Given the description of an element on the screen output the (x, y) to click on. 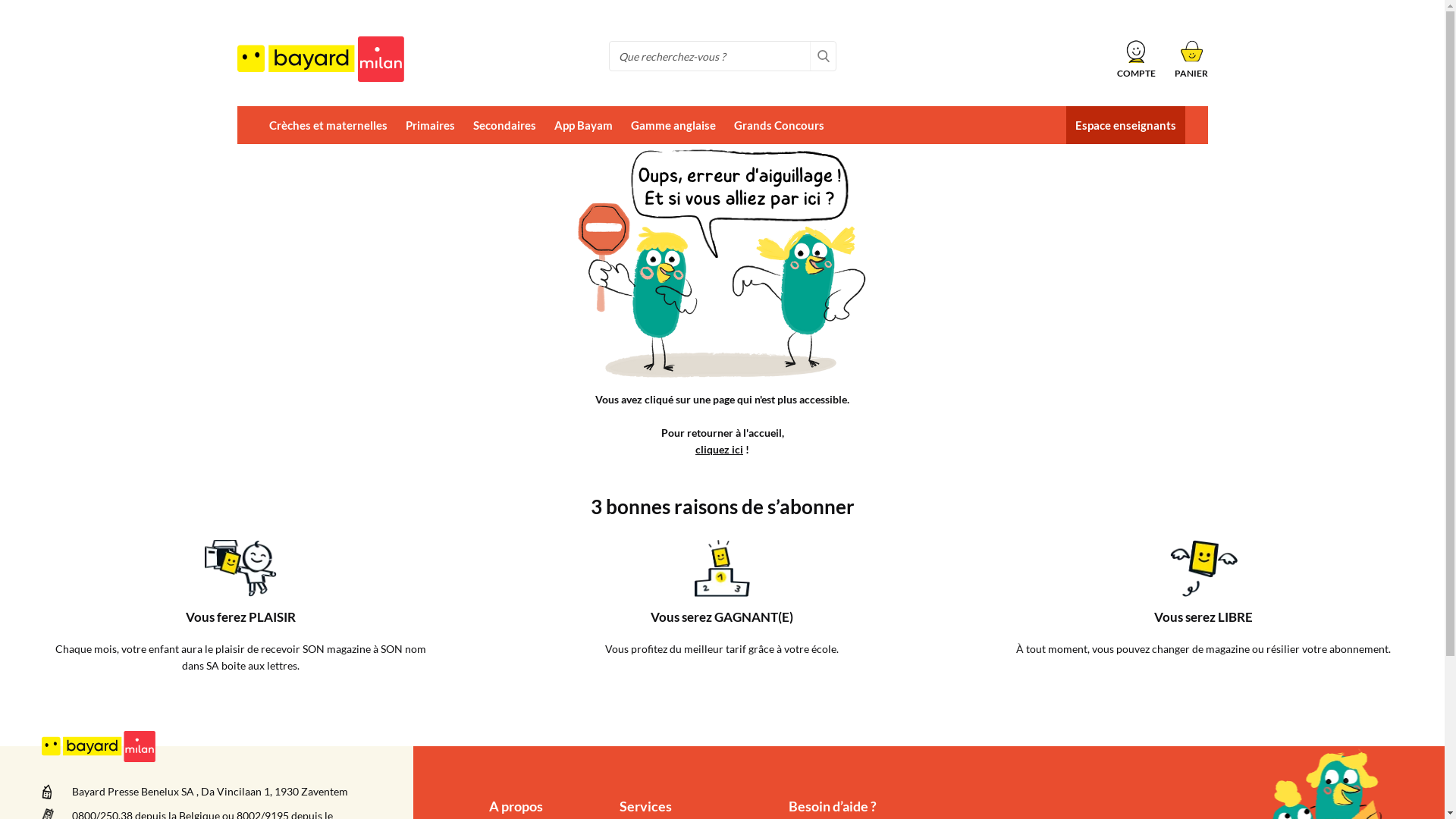
Gamme anglaise Element type: text (672, 125)
cliquez ici ! Element type: text (722, 448)
Grands Concours Element type: text (778, 125)
PANIER Element type: text (1190, 59)
Rechercher Element type: text (822, 55)
Primaires Element type: text (429, 125)
App Bayam Element type: text (582, 125)
Espace enseignants Element type: text (1125, 125)
Secondaires Element type: text (504, 125)
